Given the description of an element on the screen output the (x, y) to click on. 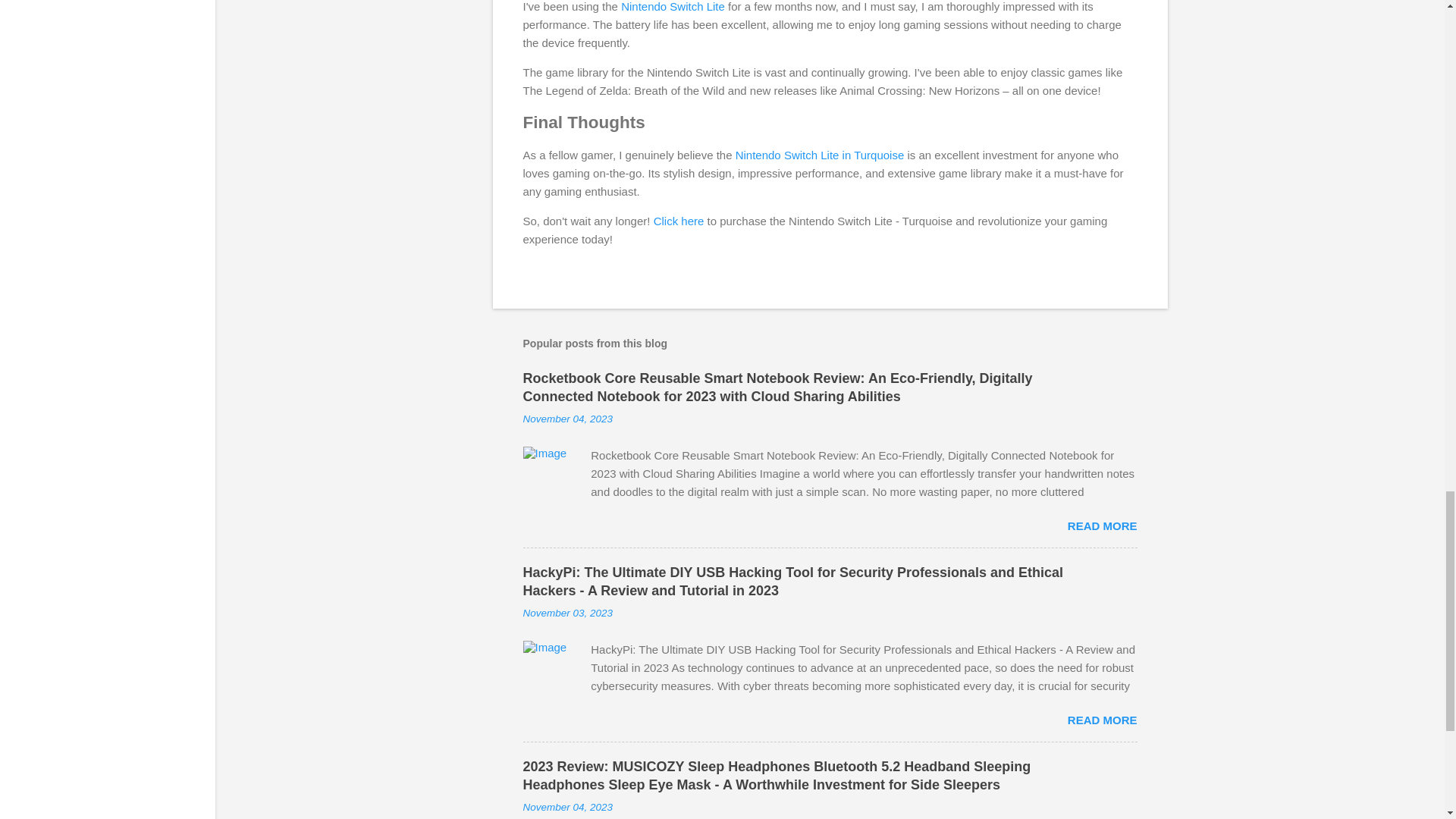
Click here (678, 220)
permanent link (567, 613)
READ MORE (1102, 719)
November 04, 2023 (567, 419)
READ MORE (1102, 525)
Nintendo Switch Lite in Turquoise (819, 154)
November 03, 2023 (567, 613)
November 04, 2023 (567, 807)
